Given the description of an element on the screen output the (x, y) to click on. 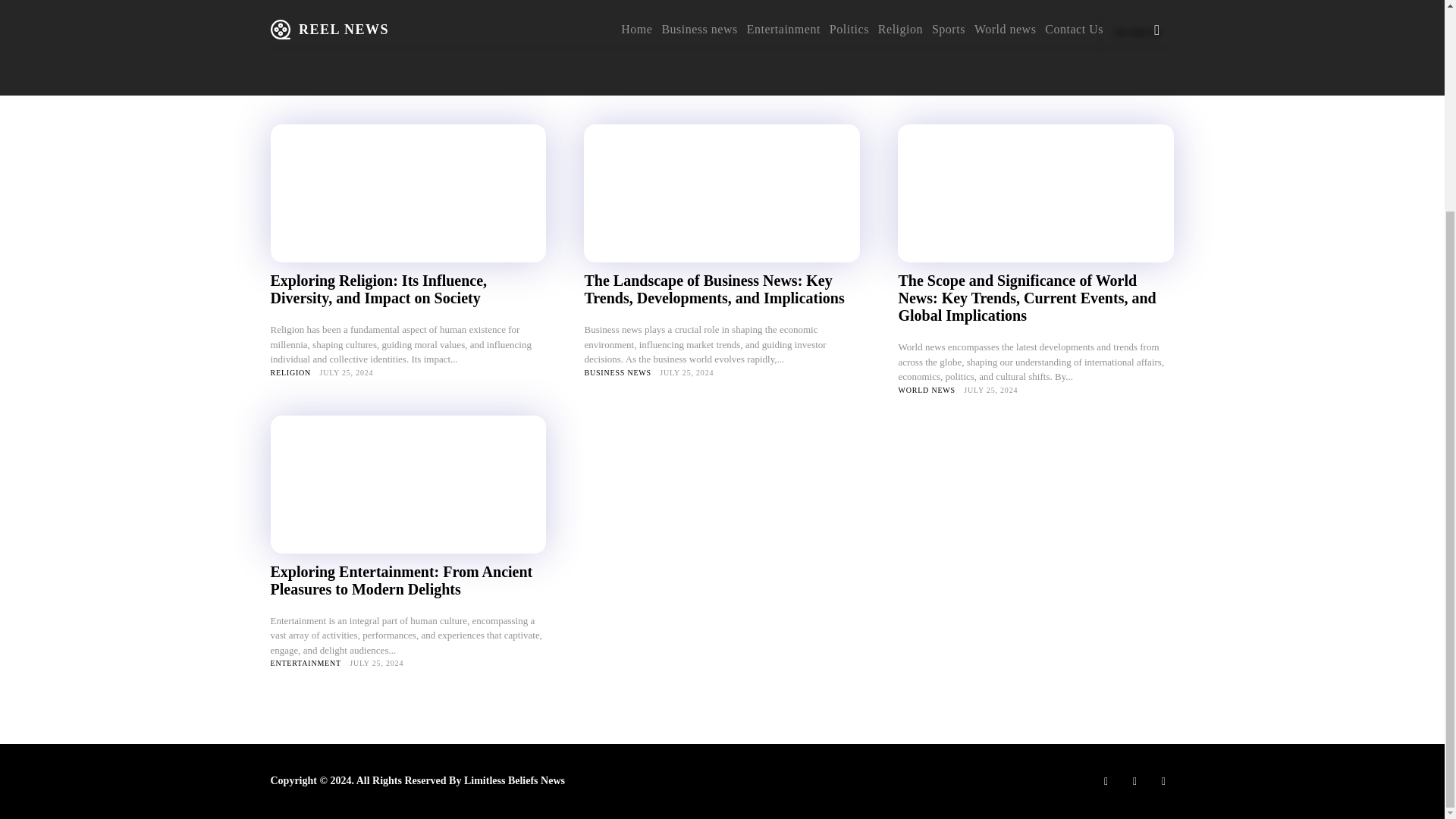
WORLD NEWS (926, 389)
Instagram (1134, 780)
RELIGION (290, 371)
SEARCH (1136, 31)
BUSINESS NEWS (616, 371)
